Given the description of an element on the screen output the (x, y) to click on. 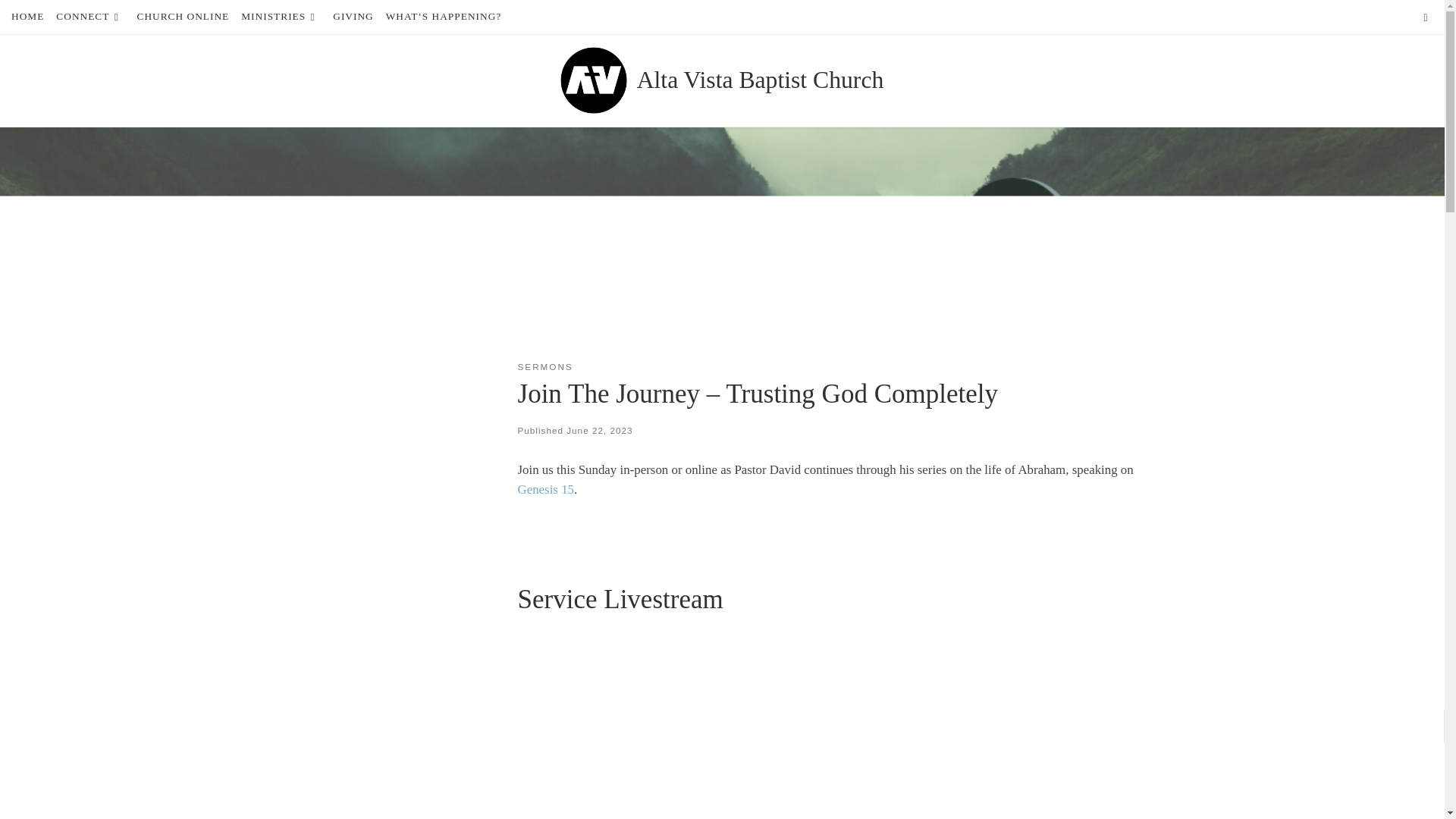
10:18 am (598, 429)
Skip to content (54, 20)
CONNECT (90, 17)
HOME (27, 17)
MINISTRIES (280, 17)
CHURCH ONLINE (182, 17)
View all posts in Sermons (544, 366)
Alta Vista Baptist Church (760, 79)
GIVING (353, 17)
